Given the description of an element on the screen output the (x, y) to click on. 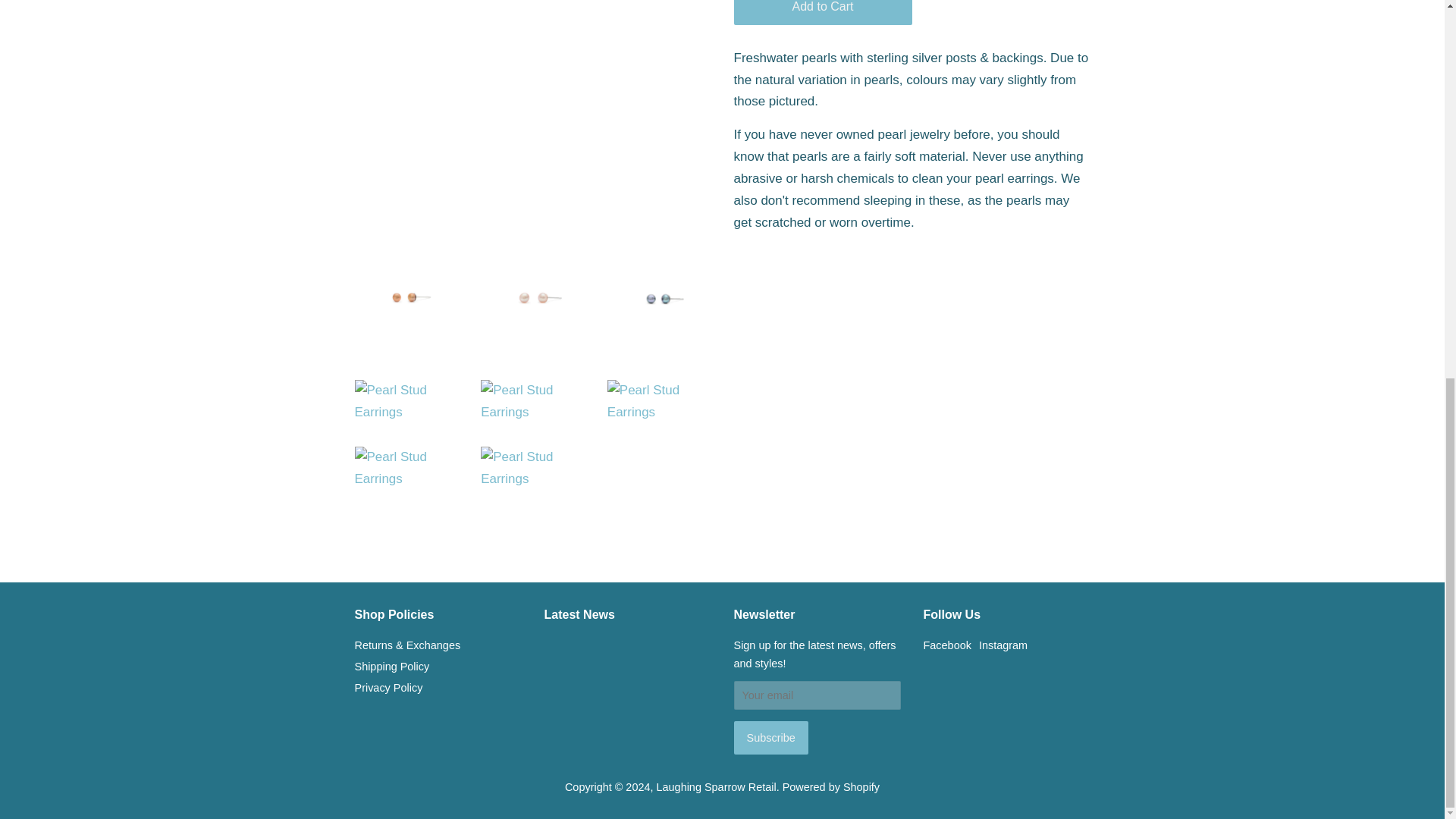
Laughing Sparrow Retail on Facebook (947, 645)
Subscribe (770, 737)
Laughing Sparrow Retail on Instagram (1002, 645)
